Given the description of an element on the screen output the (x, y) to click on. 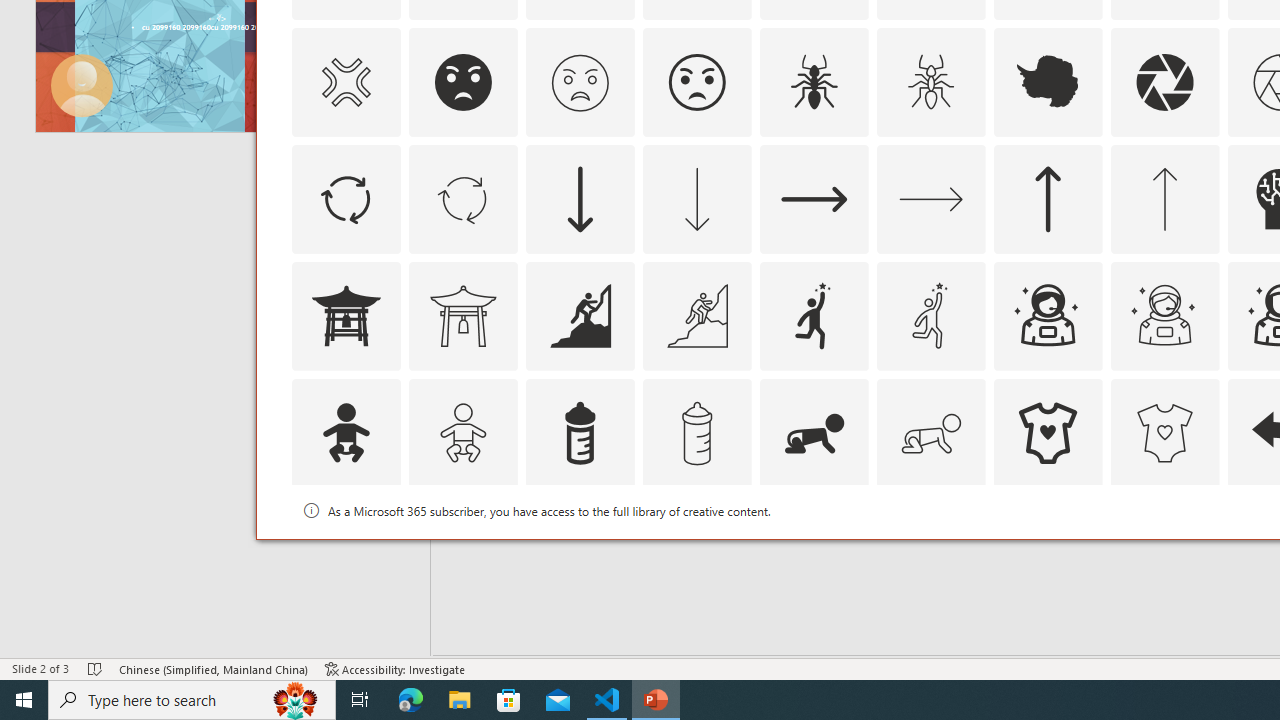
AutomationID: Icons_ArrowRight (813, 198)
AutomationID: Icons_Badge2 (463, 550)
AutomationID: Icons_Badge3 (696, 550)
AutomationID: Icons_BabyOnesie (1048, 432)
AutomationID: Icons_Aspiration1_M (930, 316)
